Given the description of an element on the screen output the (x, y) to click on. 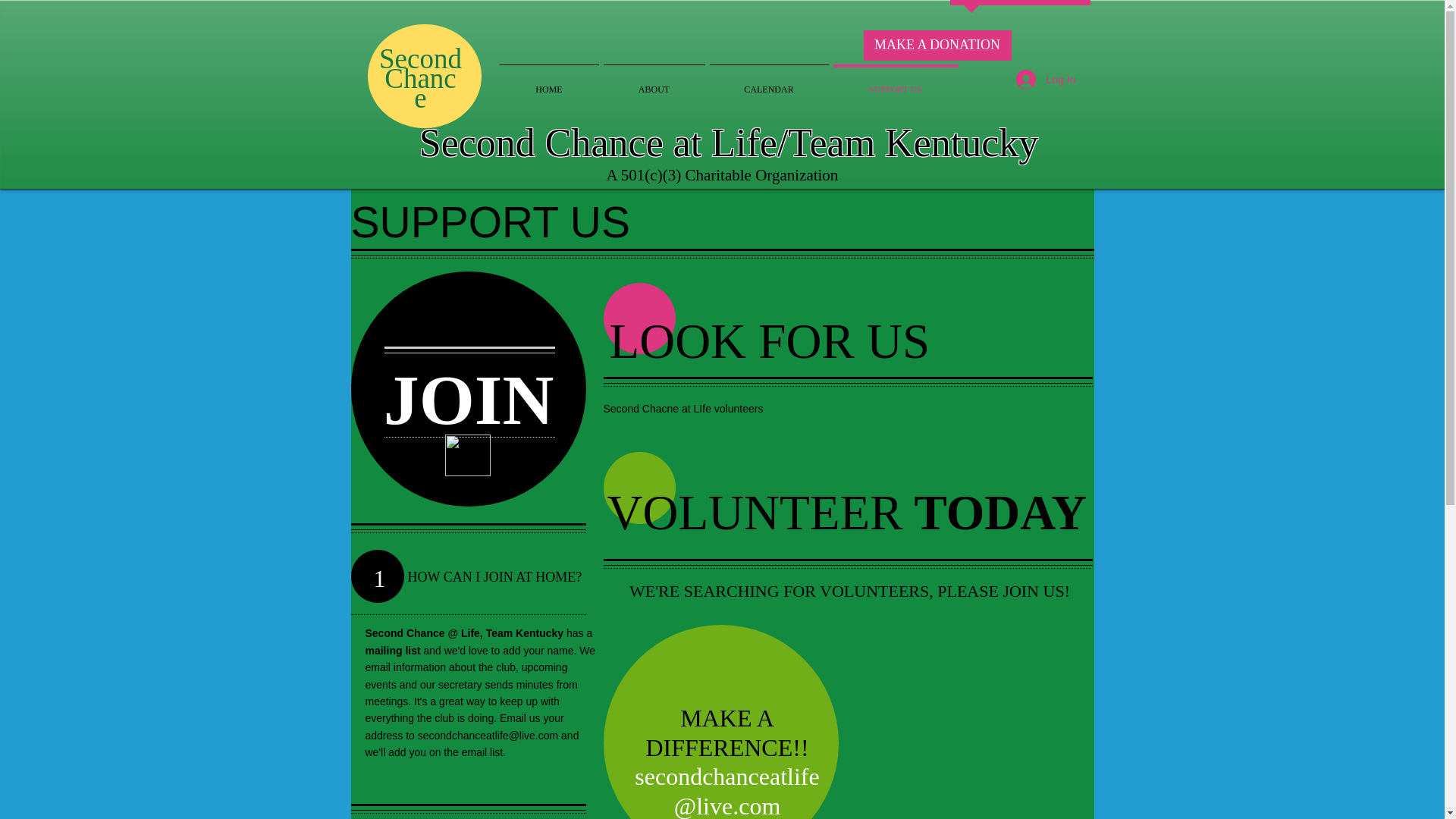
Log In (1046, 79)
HOME (549, 82)
CALENDAR (767, 82)
ABOUT (652, 82)
SUPPORT US (895, 82)
MAKE A DONATION (936, 45)
Second Chance (419, 78)
